Given the description of an element on the screen output the (x, y) to click on. 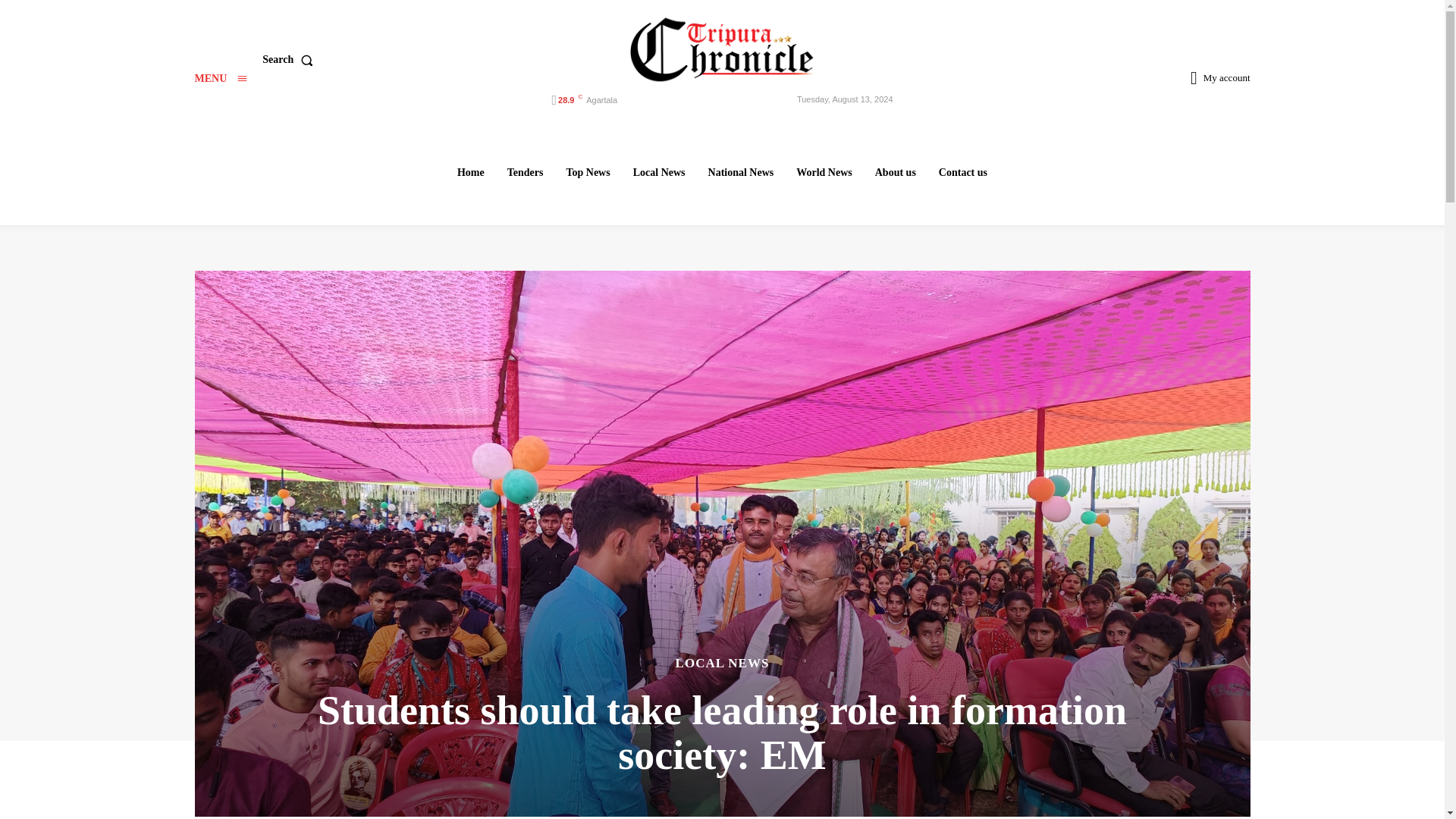
National News (740, 172)
Search (290, 60)
Menu (220, 78)
Local News (659, 172)
Home (470, 172)
World News (824, 172)
Tenders (525, 172)
MENU (220, 78)
Top News (587, 172)
